Given the description of an element on the screen output the (x, y) to click on. 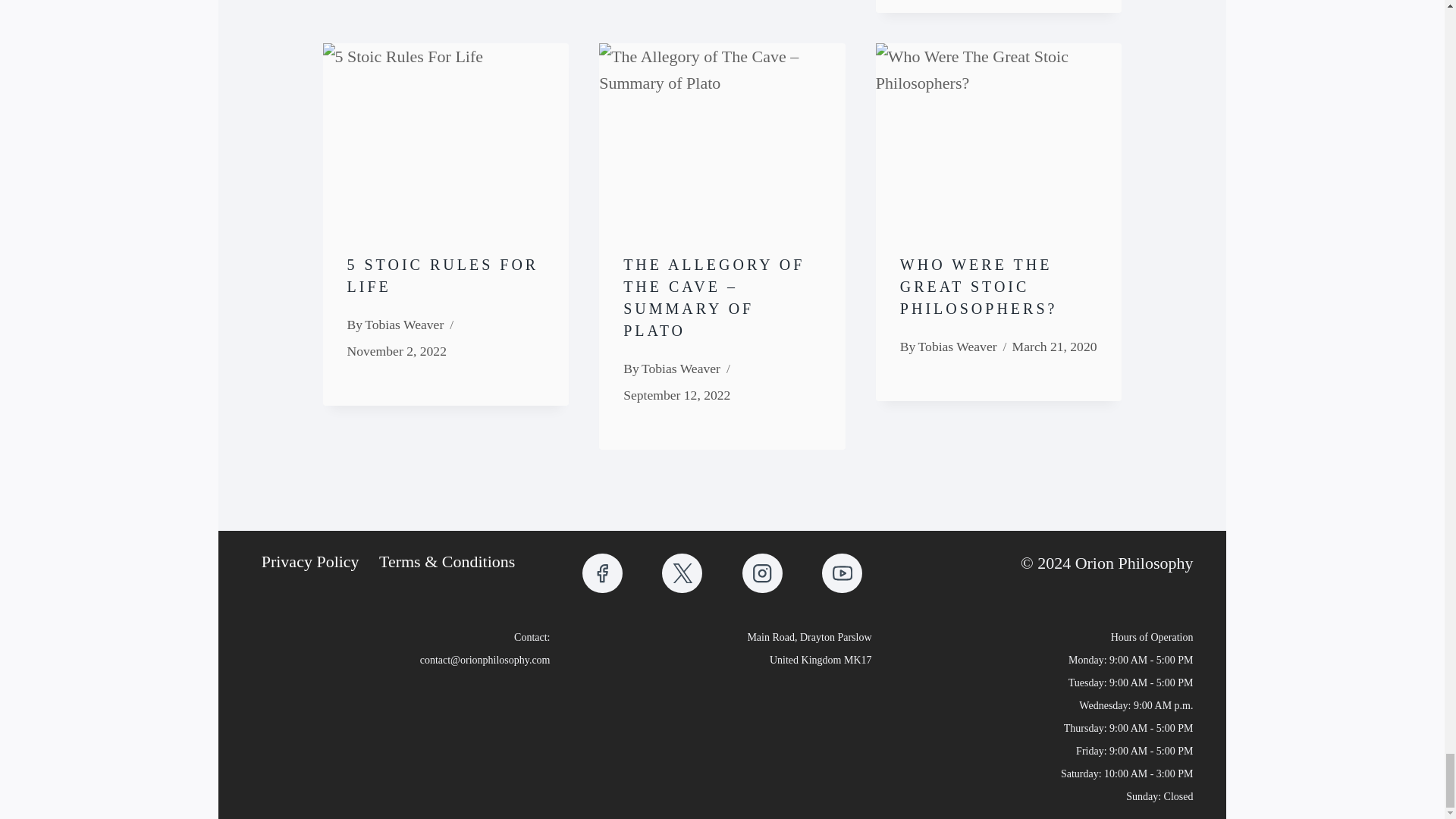
5 STOIC RULES FOR LIFE (442, 275)
5 Stoic Rules For Life 10 (446, 125)
The Allegory of The Cave - Summary of Plato 11 (721, 125)
Who Were The Great Stoic Philosophers? 14 (999, 125)
Tobias Weaver (681, 368)
Tobias Weaver (404, 324)
